Given the description of an element on the screen output the (x, y) to click on. 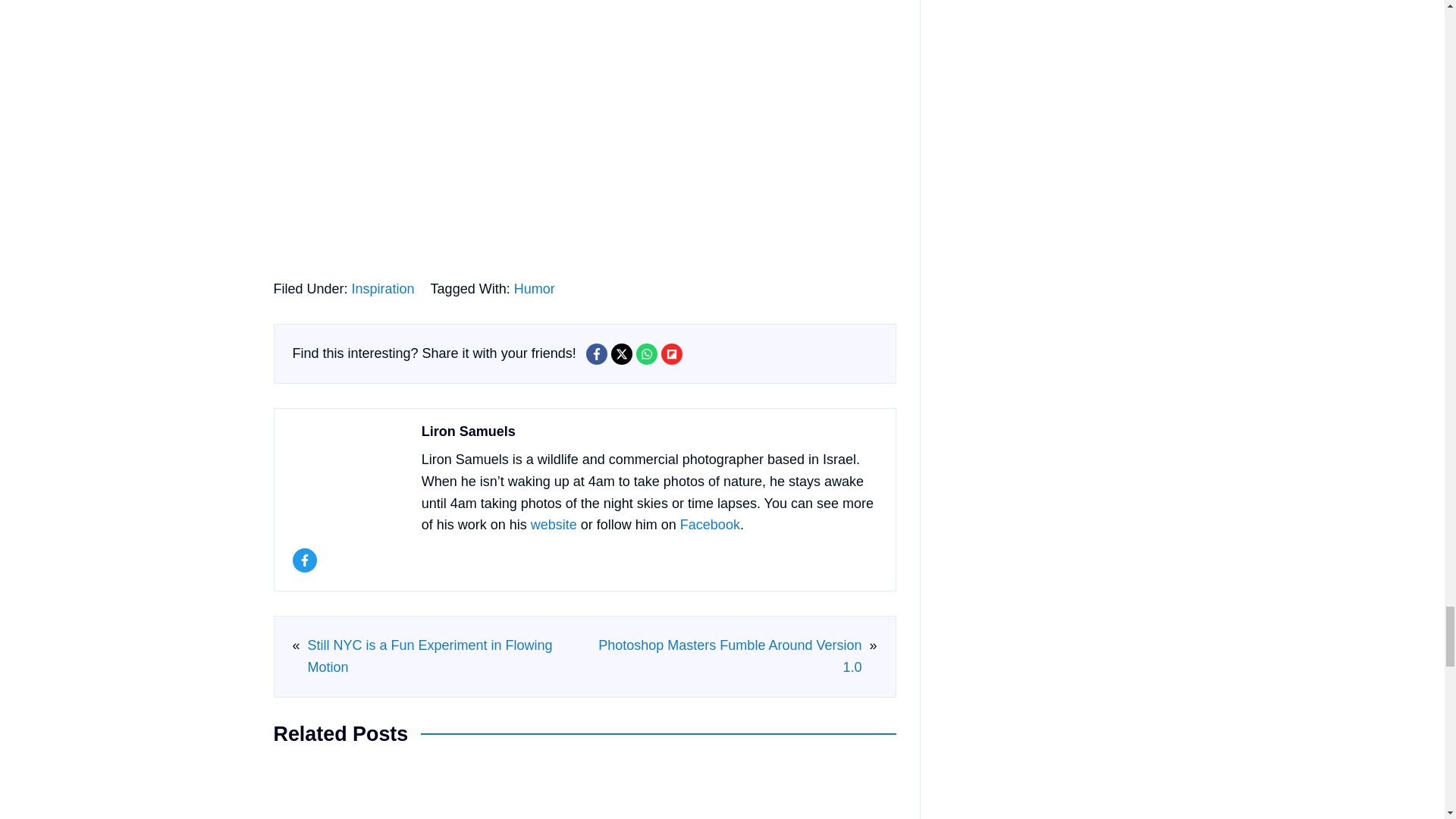
How to shoot an iconic whiskey ad on a giant ice cube (663, 790)
